Given the description of an element on the screen output the (x, y) to click on. 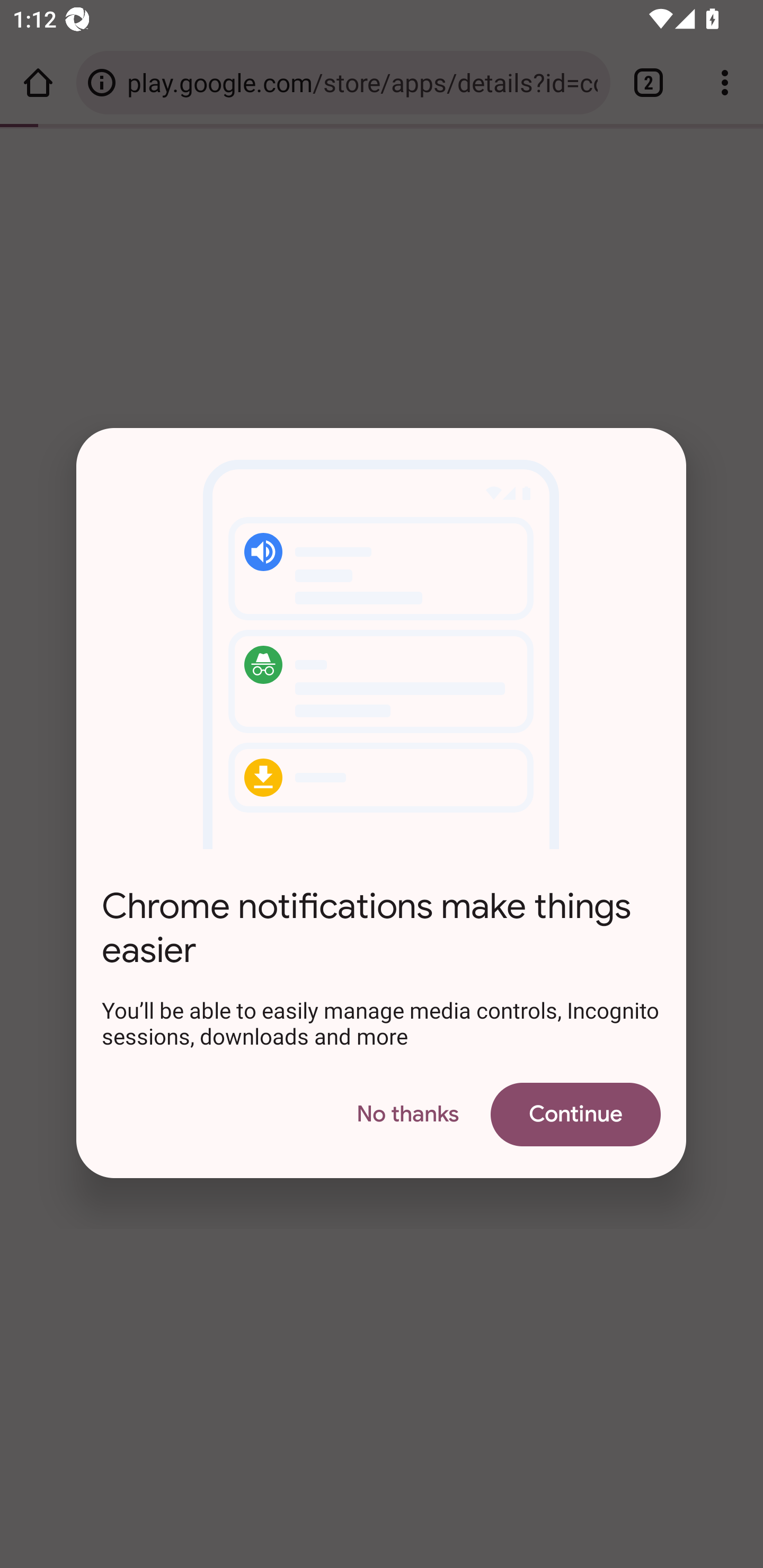
No thanks (407, 1113)
Continue (575, 1113)
